Given the description of an element on the screen output the (x, y) to click on. 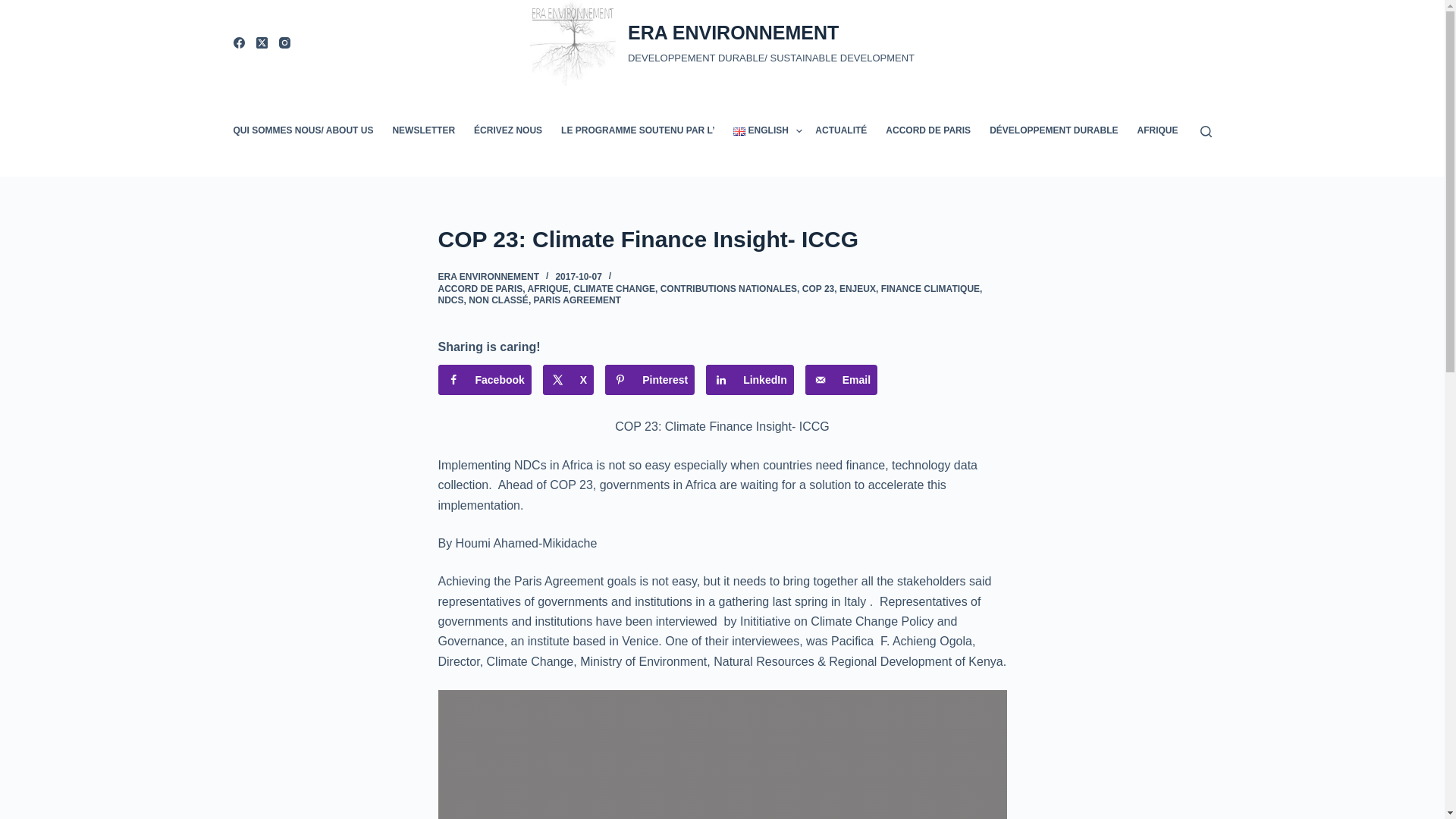
Share on X (568, 379)
COP 23: Climate Finance Insight- ICCG (722, 238)
Skip to content (15, 7)
Share on LinkedIn (749, 379)
Send over email (841, 379)
Share on Facebook (484, 379)
Posts by ERA ENVIRONNEMENT (489, 276)
Save to Pinterest (649, 379)
ERA ENVIRONNEMENT (732, 32)
NEWSLETTER (423, 130)
